Given the description of an element on the screen output the (x, y) to click on. 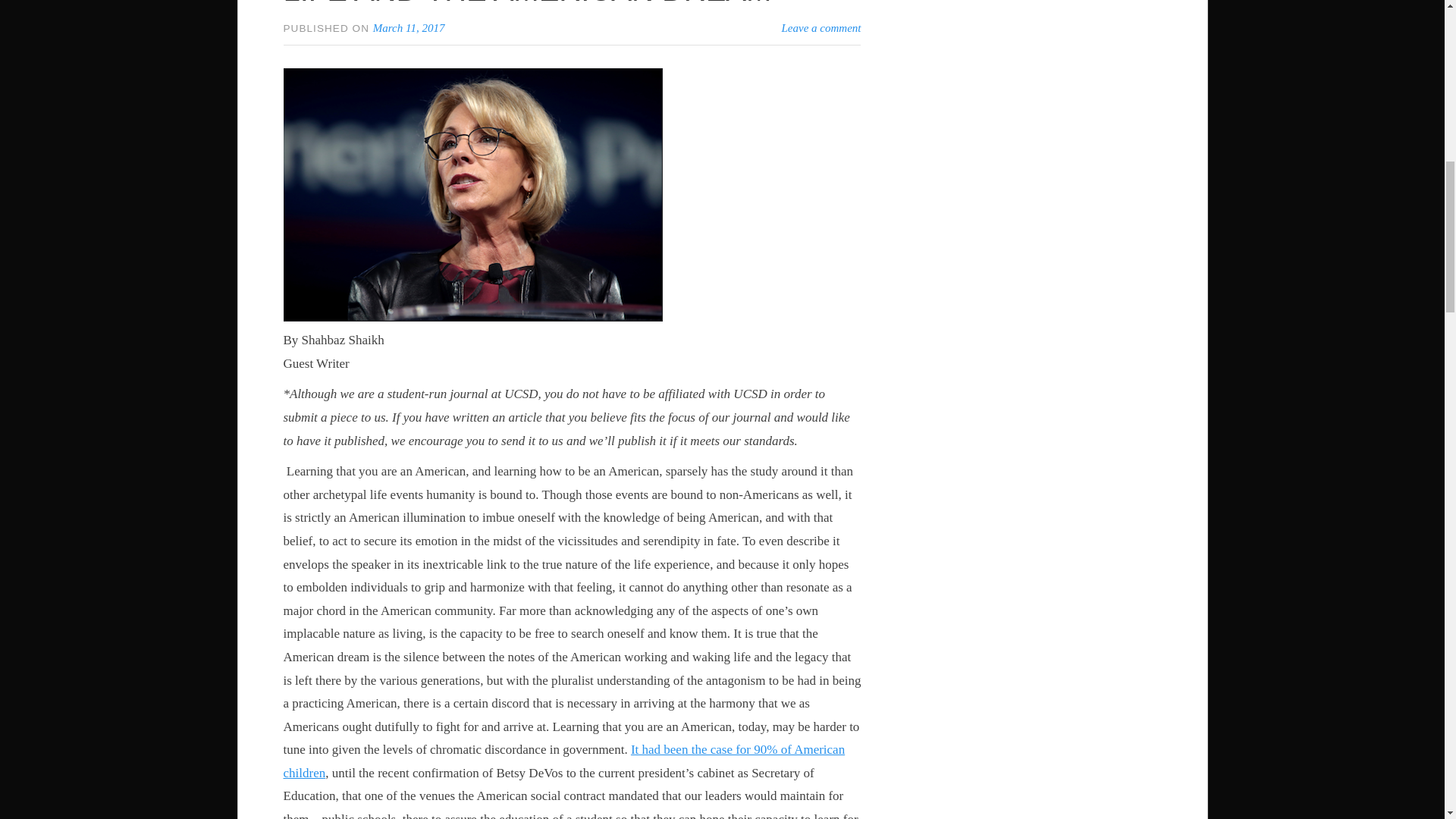
March 11, 2017 (408, 28)
Leave a comment (821, 28)
